Given the description of an element on the screen output the (x, y) to click on. 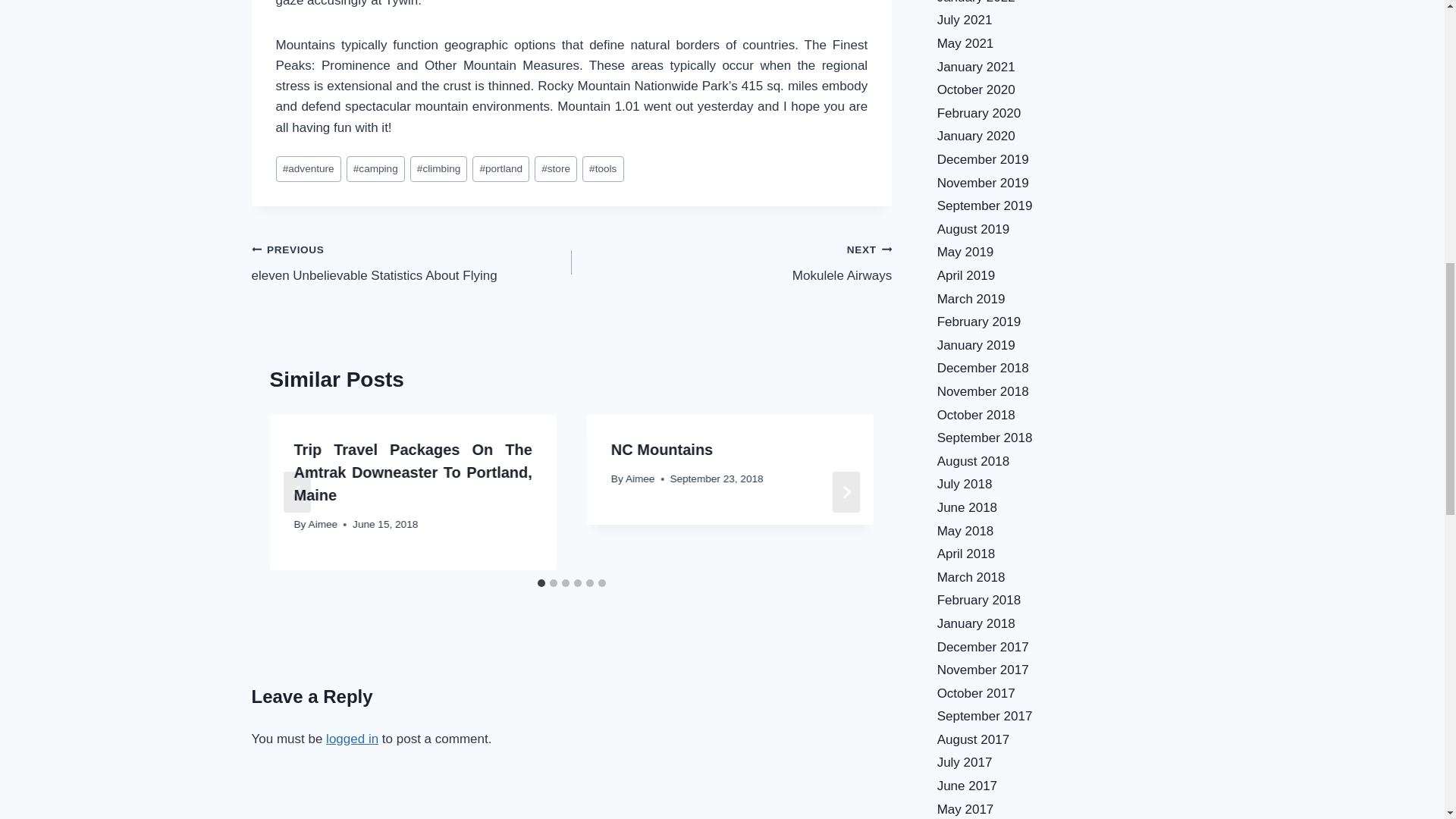
portland (500, 169)
store (555, 169)
adventure (308, 169)
climbing (438, 169)
tools (603, 169)
camping (375, 169)
